Given the description of an element on the screen output the (x, y) to click on. 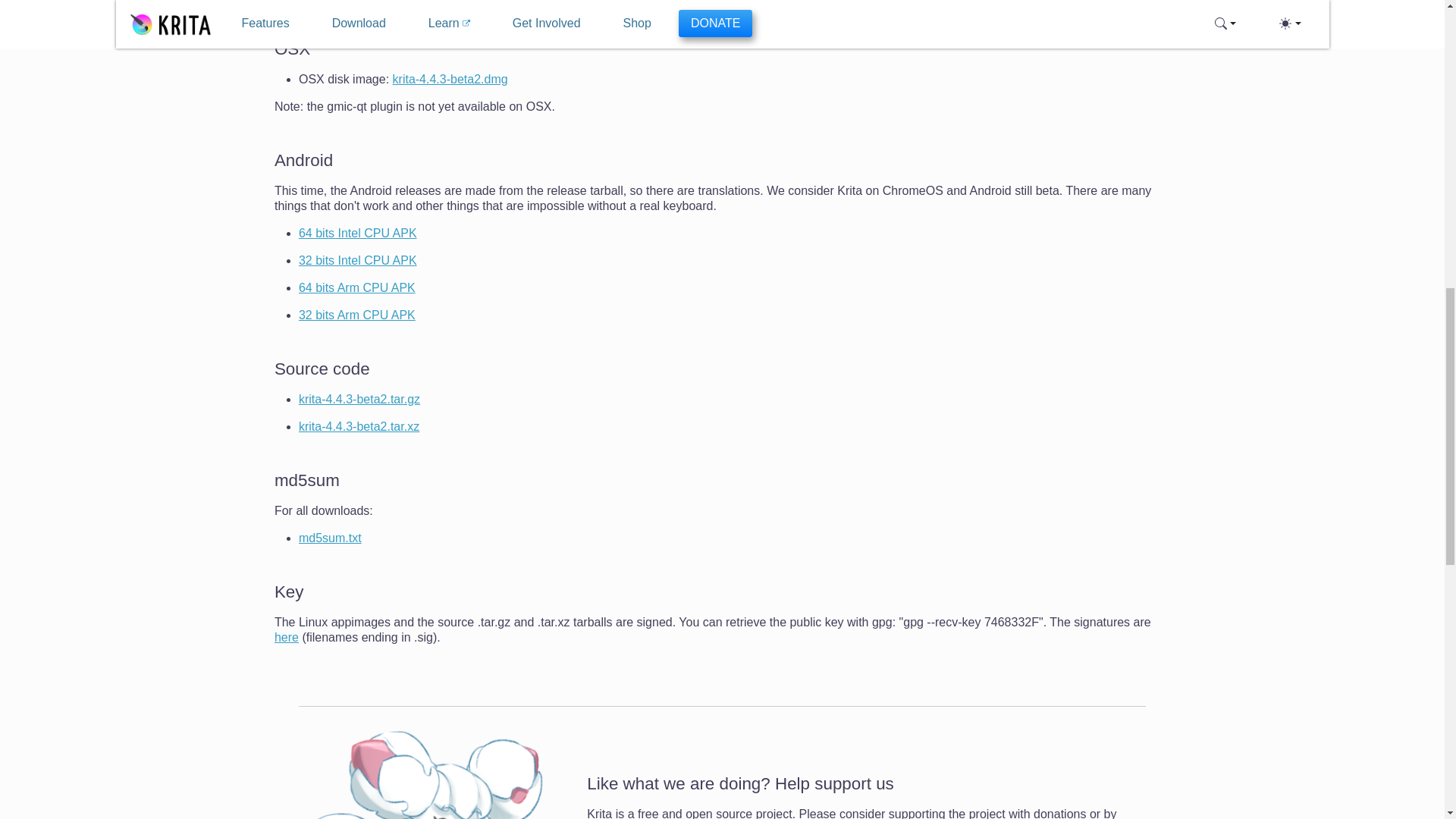
64 bits Intel CPU APK (357, 232)
32 bits Intel CPU APK (357, 259)
64 bits Arm CPU APK (356, 287)
32 bits Arm CPU APK (356, 314)
krita-4.4.3-beta2.tar.gz (359, 399)
krita-4.4.3-beta2.dmg (450, 78)
md5sum.txt (329, 537)
krita-4.4.3-beta2.tar.xz (358, 426)
here (286, 636)
